Given the description of an element on the screen output the (x, y) to click on. 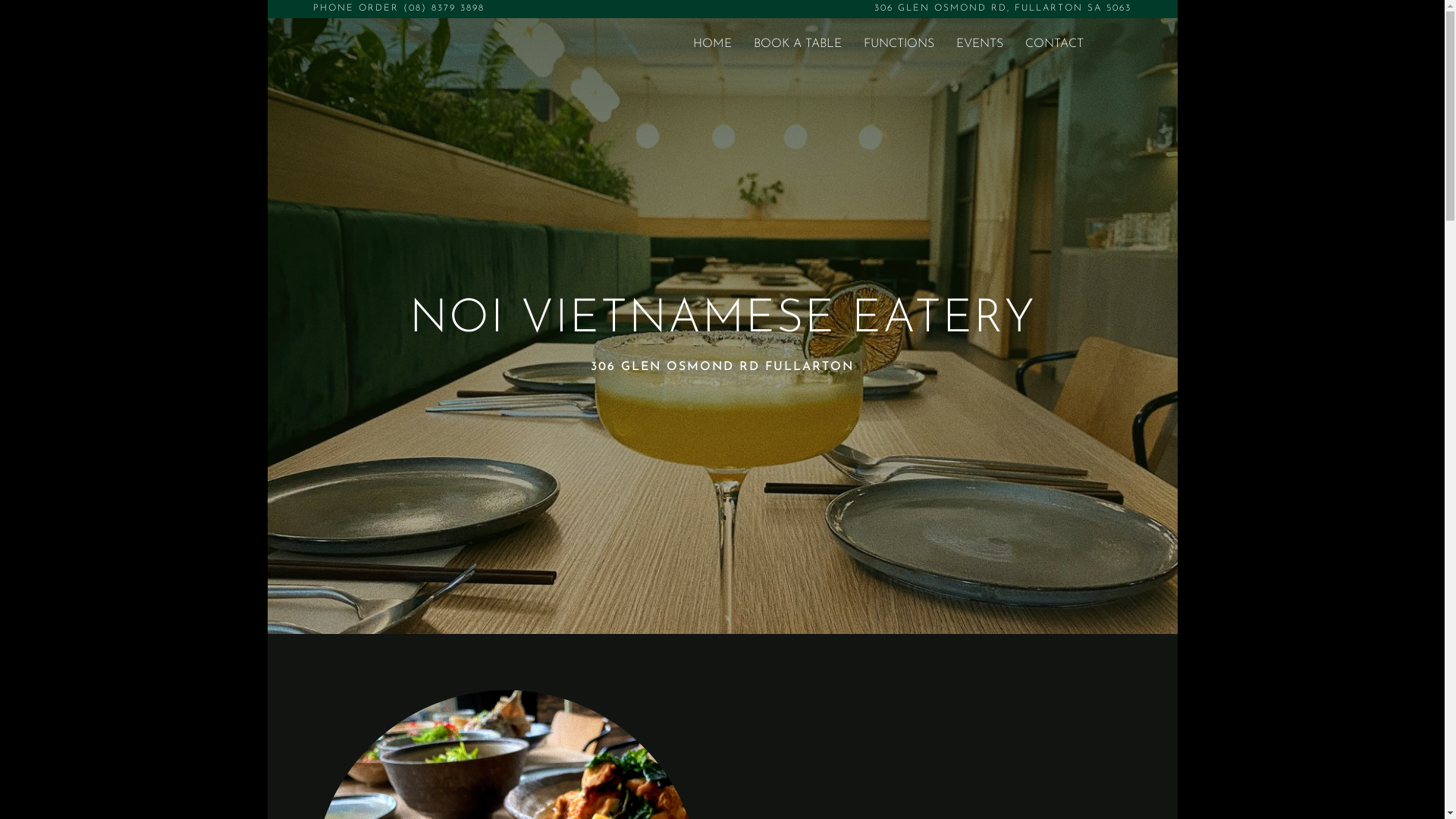
FUNCTIONS Element type: text (898, 46)
CONTACT Element type: text (1054, 46)
BOOK A TABLE Element type: text (797, 46)
EVENTS Element type: text (979, 46)
(08) 8379 3898 Element type: text (443, 7)
HOME Element type: text (712, 46)
